Given the description of an element on the screen output the (x, y) to click on. 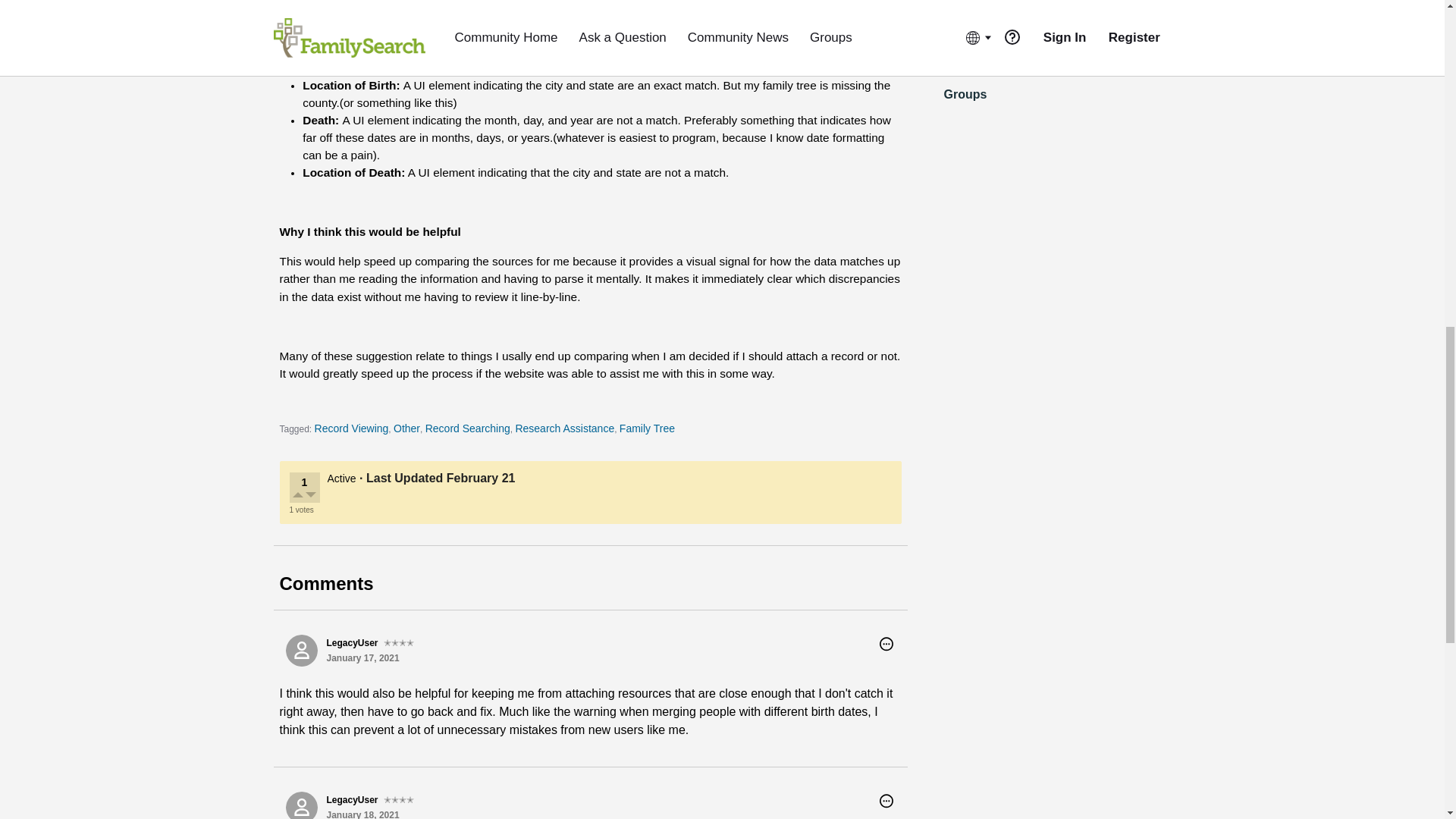
January 18, 2021 3:59PM (362, 814)
LegacyUser (301, 650)
LegacyUser (301, 805)
Level 4 (398, 799)
February 21, 2024 2:37AM (480, 477)
January 17, 2021 9:32PM (362, 657)
Up (298, 495)
Level 4 (398, 643)
